Given the description of an element on the screen output the (x, y) to click on. 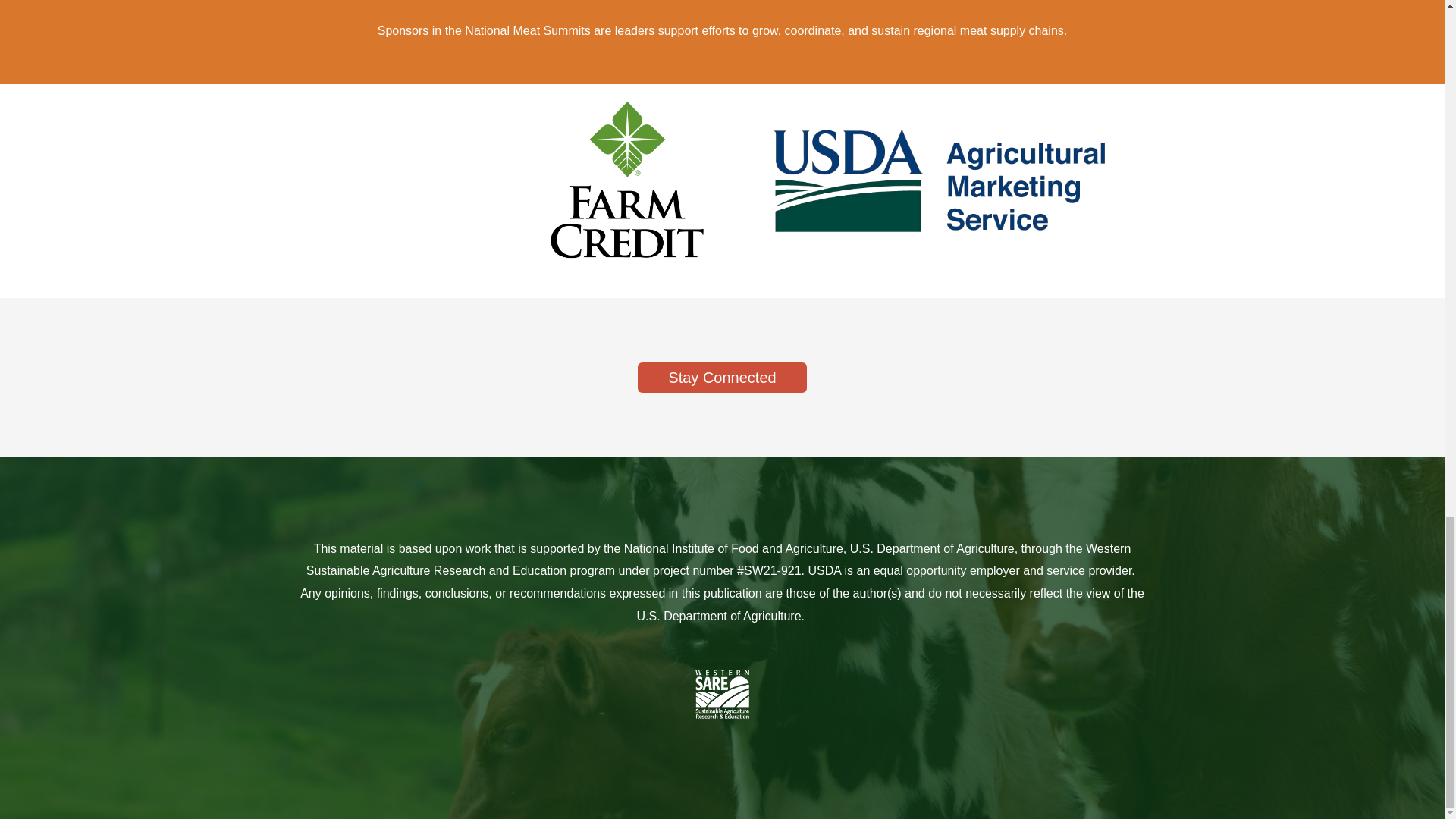
Stay Connected (721, 377)
